Given the description of an element on the screen output the (x, y) to click on. 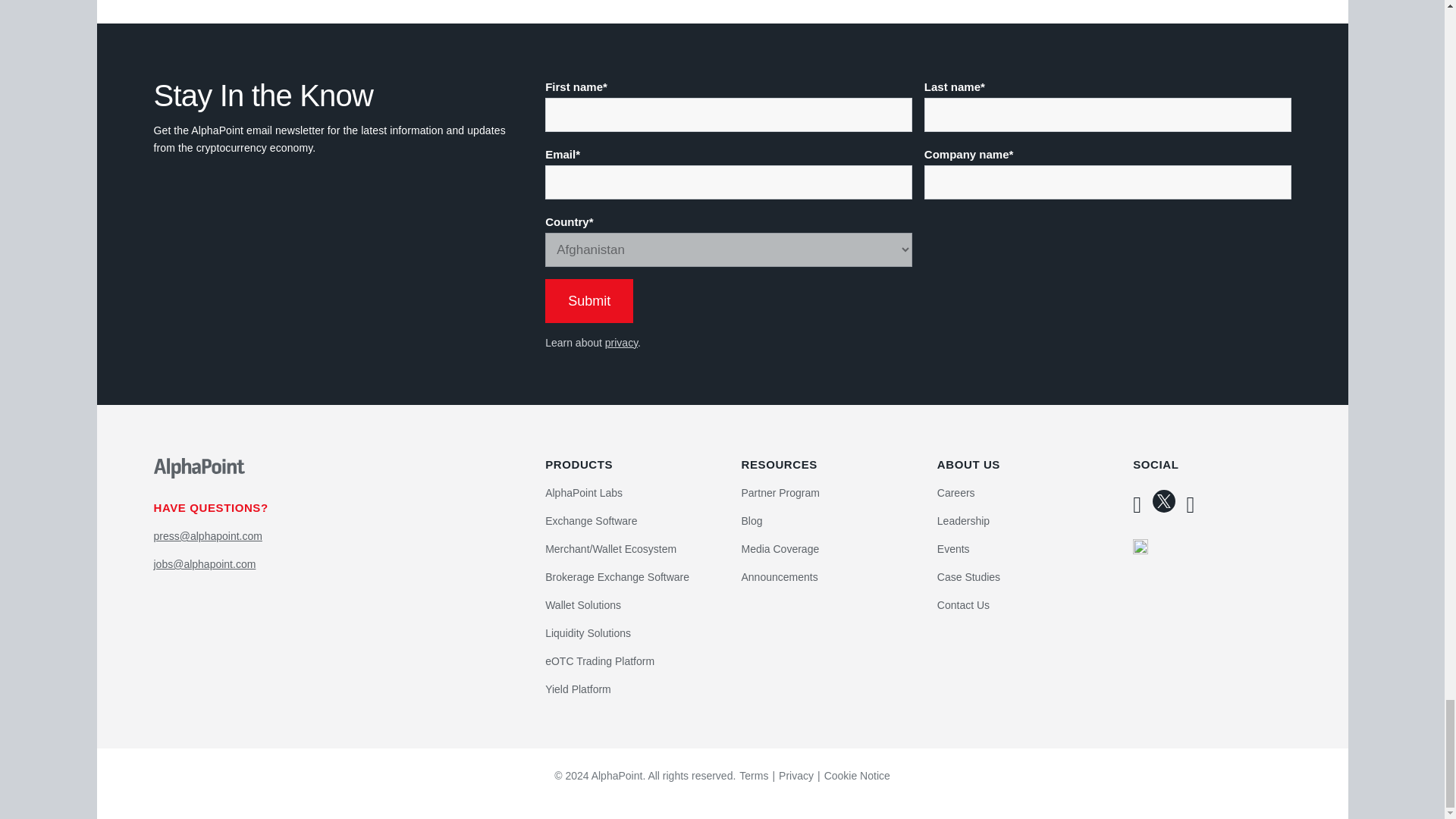
Submit (588, 300)
